Given the description of an element on the screen output the (x, y) to click on. 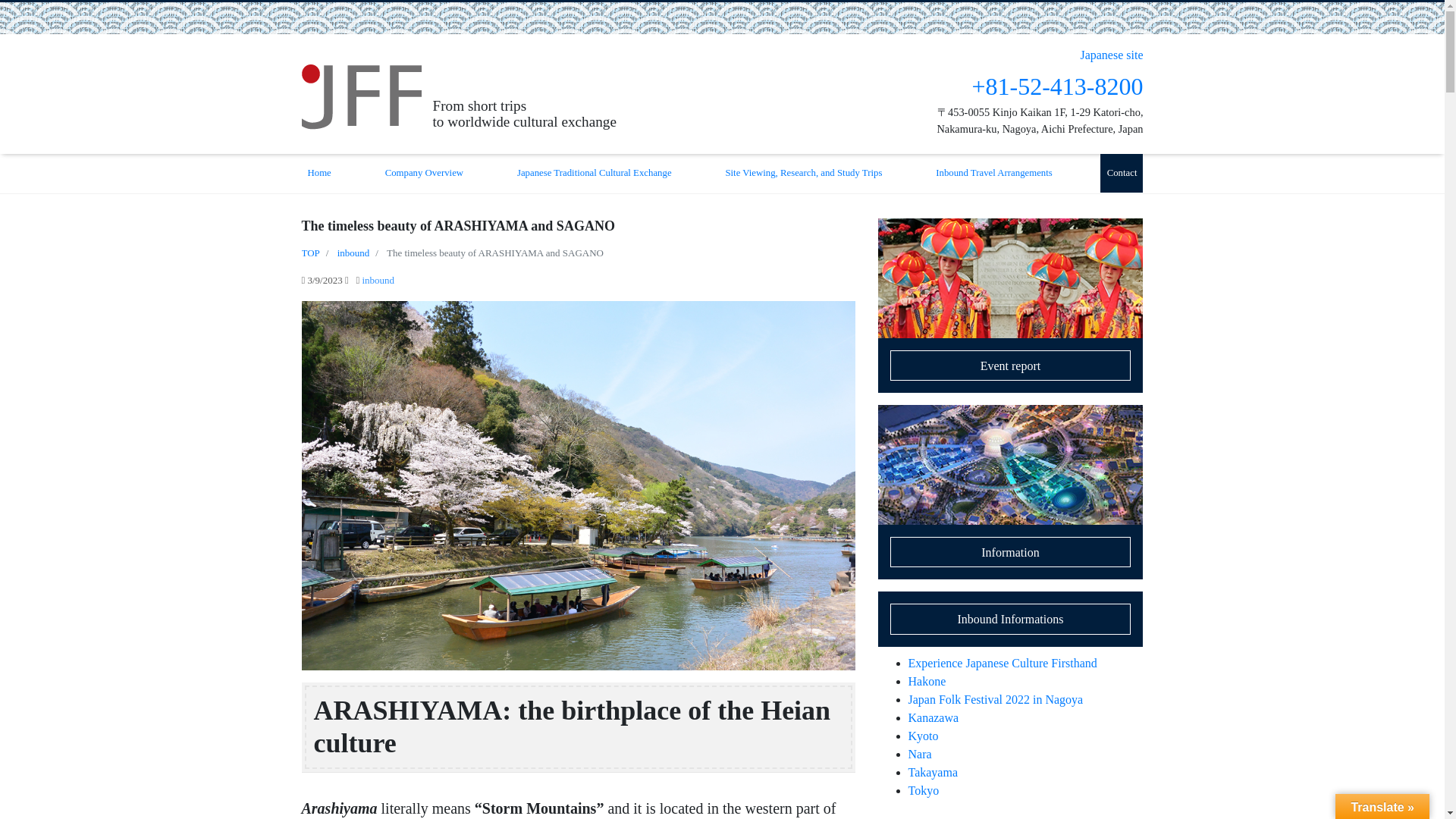
Event report (1009, 305)
Information (1009, 491)
Inbound Informations (1010, 618)
The timeless beauty of ARASHIYAMA and SAGANO (495, 252)
Inbound Travel Arrangements (994, 172)
Contact (1121, 172)
Event report (1009, 305)
Information (1009, 491)
Japanese Traditional Cultural Exchange (594, 172)
Home (319, 172)
Takayama (933, 771)
Japanese site (1111, 54)
Company Overview (423, 172)
Hakone (927, 680)
Tokyo (923, 789)
